Given the description of an element on the screen output the (x, y) to click on. 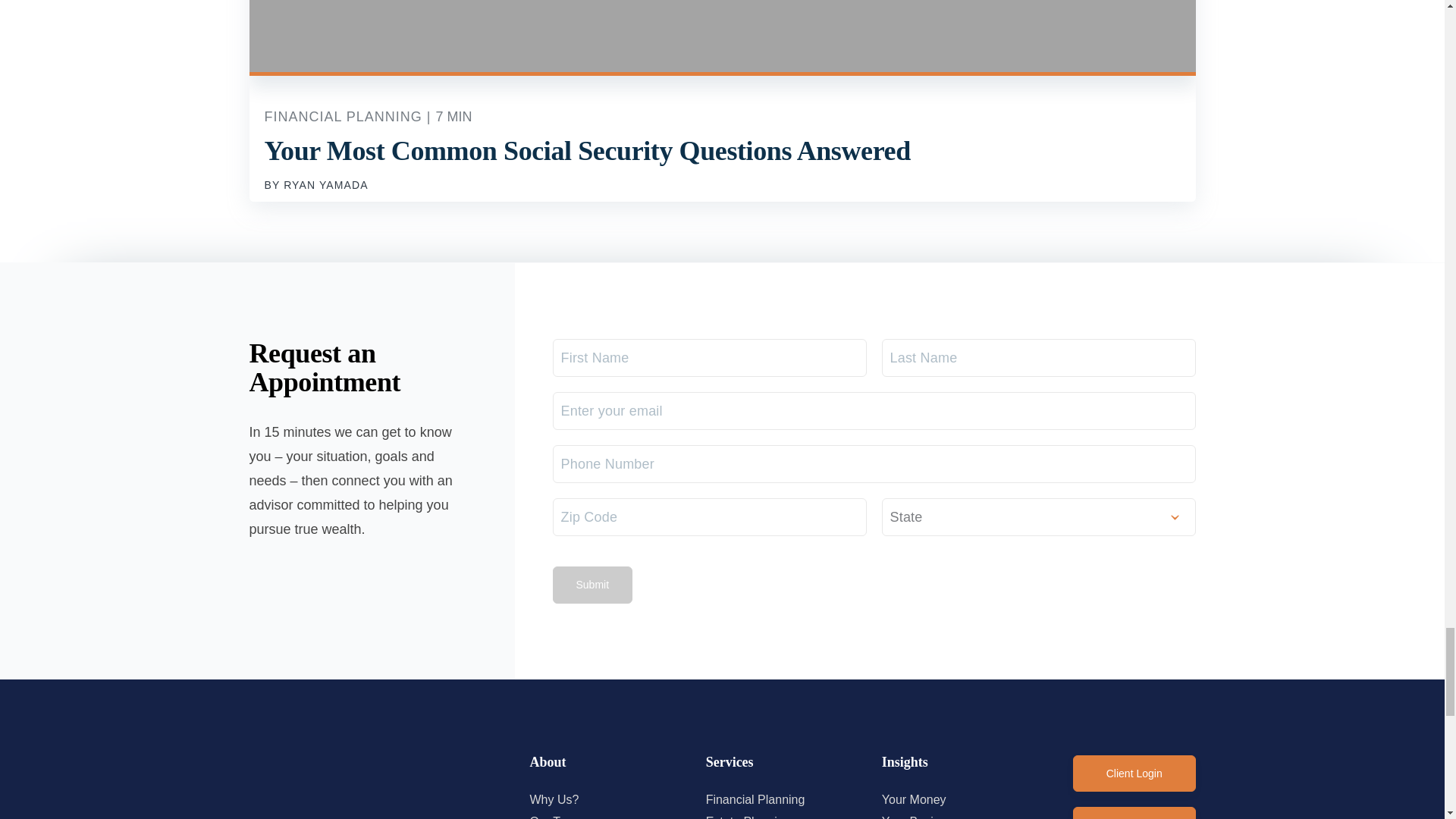
Submit (591, 584)
